Given the description of an element on the screen output the (x, y) to click on. 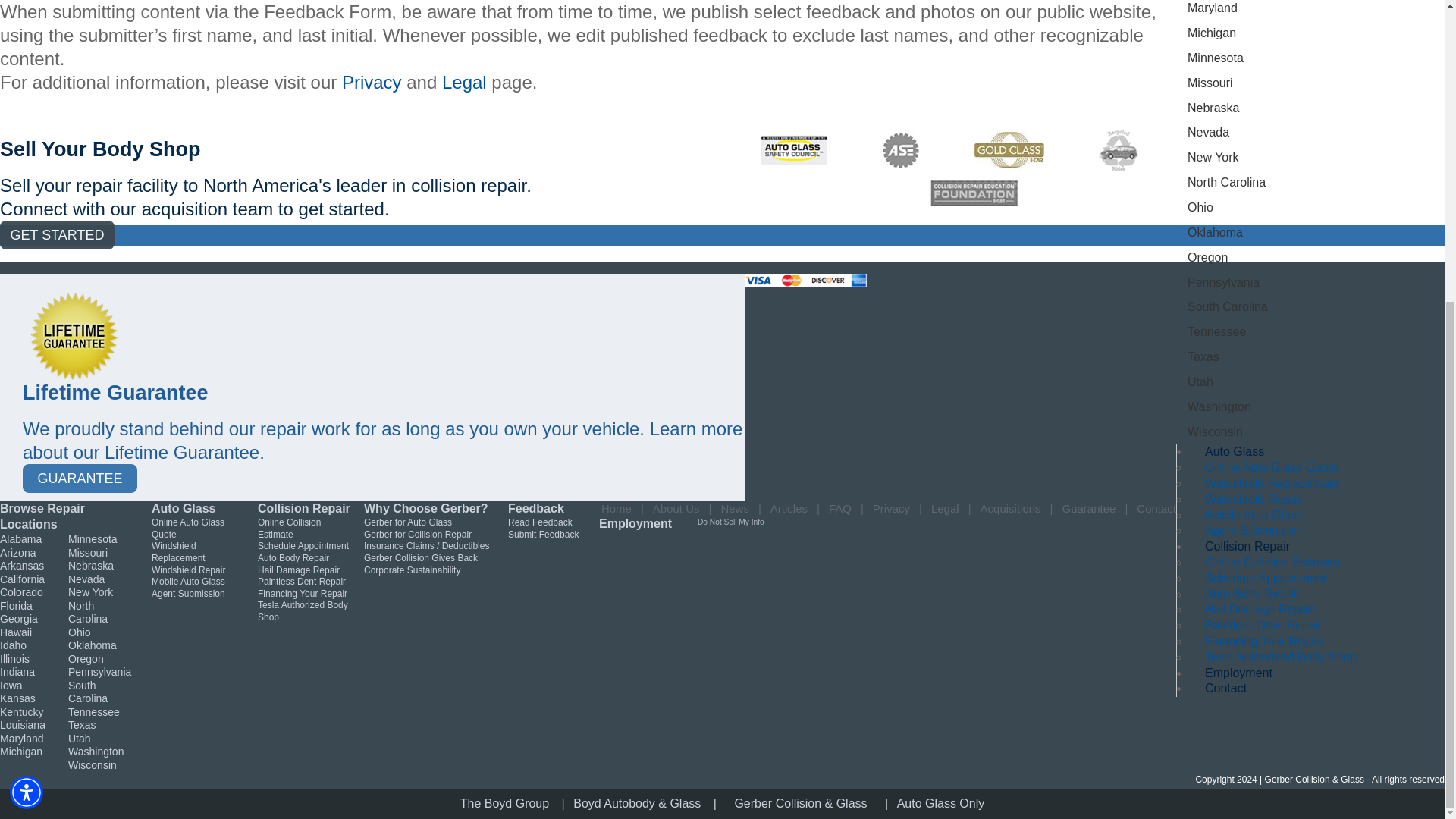
Accessibility Menu (26, 321)
